Given the description of an element on the screen output the (x, y) to click on. 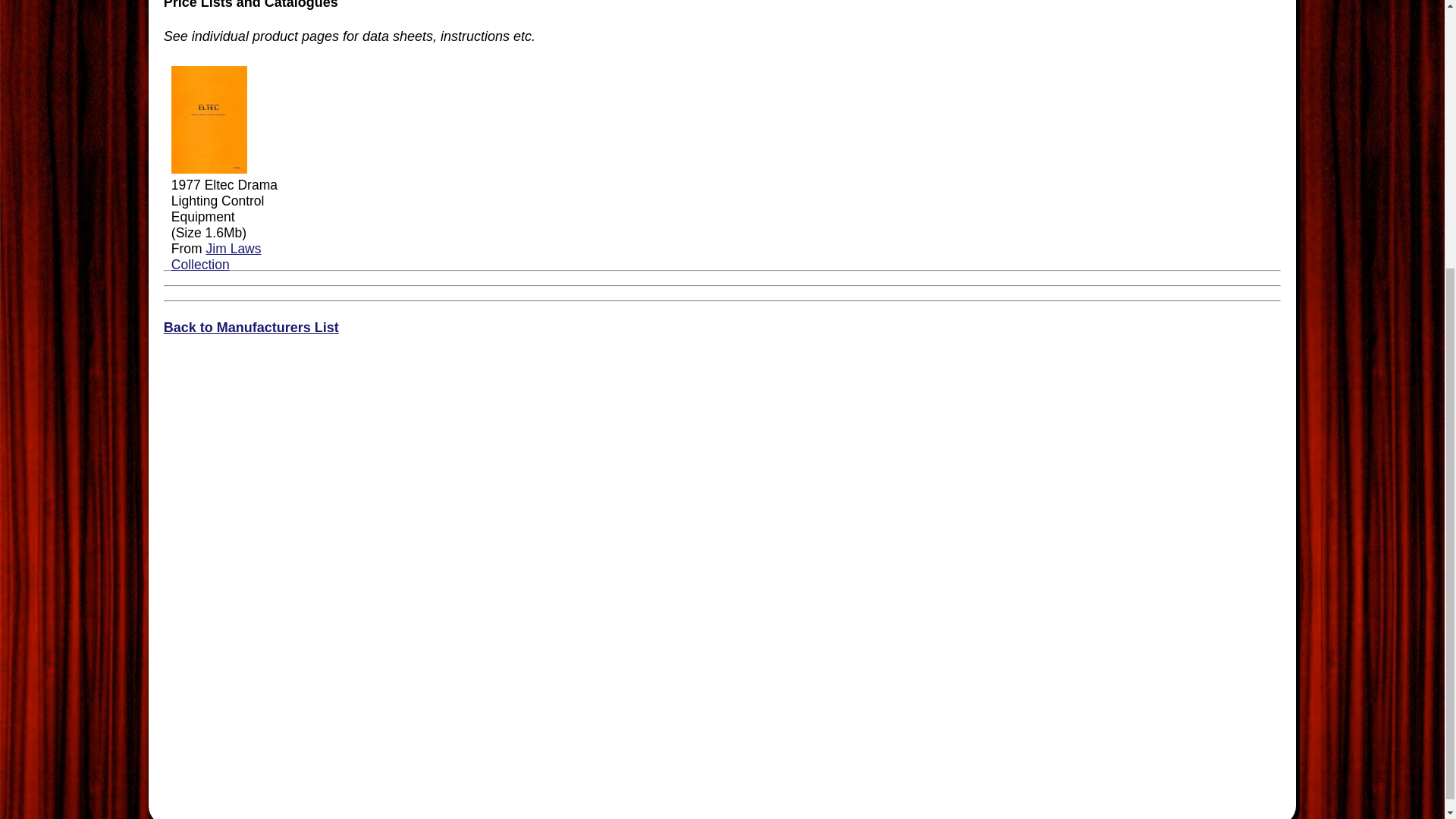
Back to Manufacturers List (251, 327)
Jim Laws Collection (216, 255)
